Given the description of an element on the screen output the (x, y) to click on. 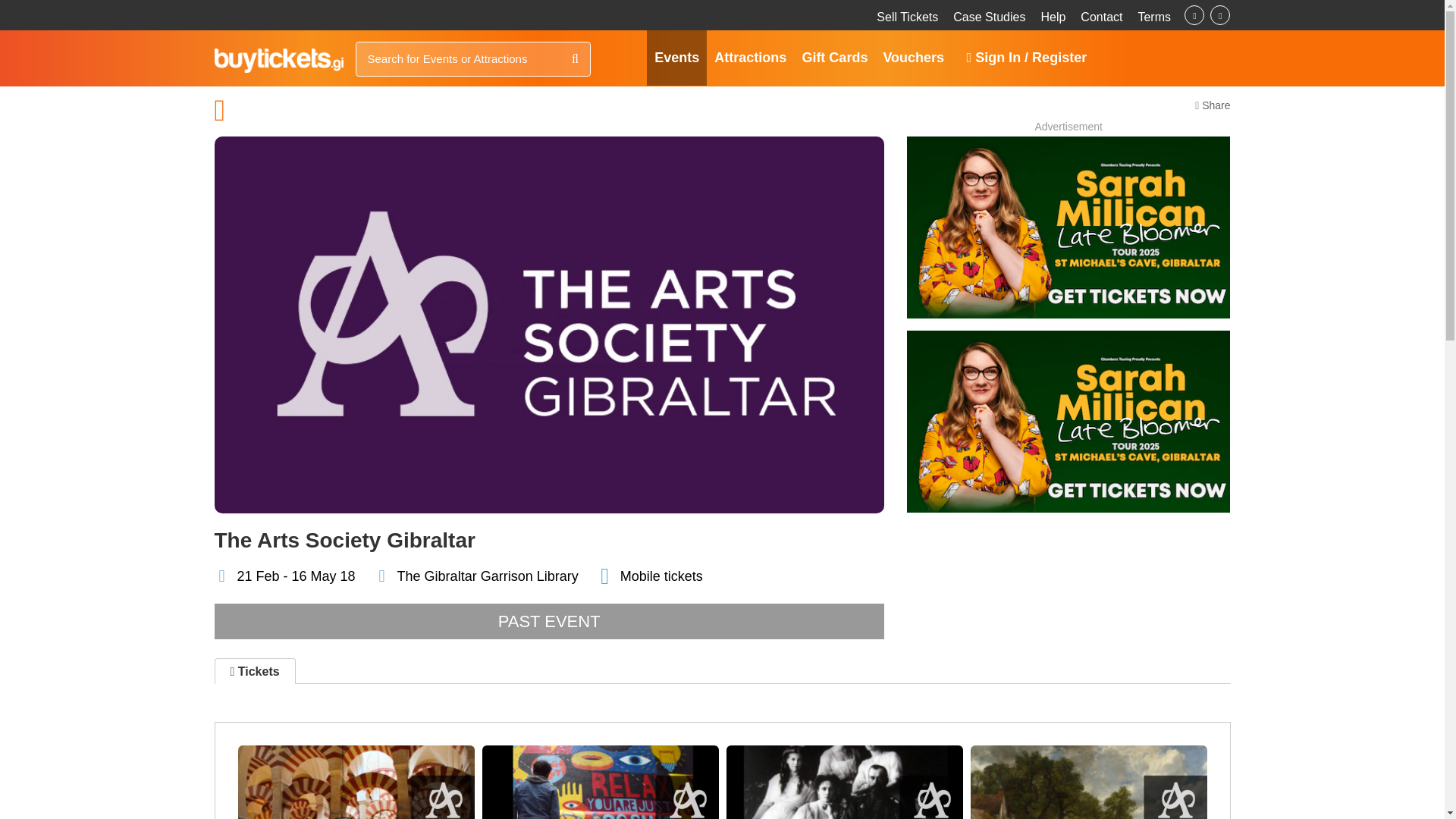
Follow Us on Twitter (1219, 14)
Contact (1101, 17)
Events (676, 57)
Gift Cards (834, 57)
Help (1052, 17)
Contact (1101, 17)
Sell Tickets (906, 17)
Help (1052, 17)
Terms (1153, 17)
Sarah Millican: Late Bloomer (1068, 421)
Follow Us on Facebook (1194, 14)
Tickets (254, 670)
BuyTickets (278, 60)
Sell Tickets (906, 17)
Vouchers (913, 57)
